Given the description of an element on the screen output the (x, y) to click on. 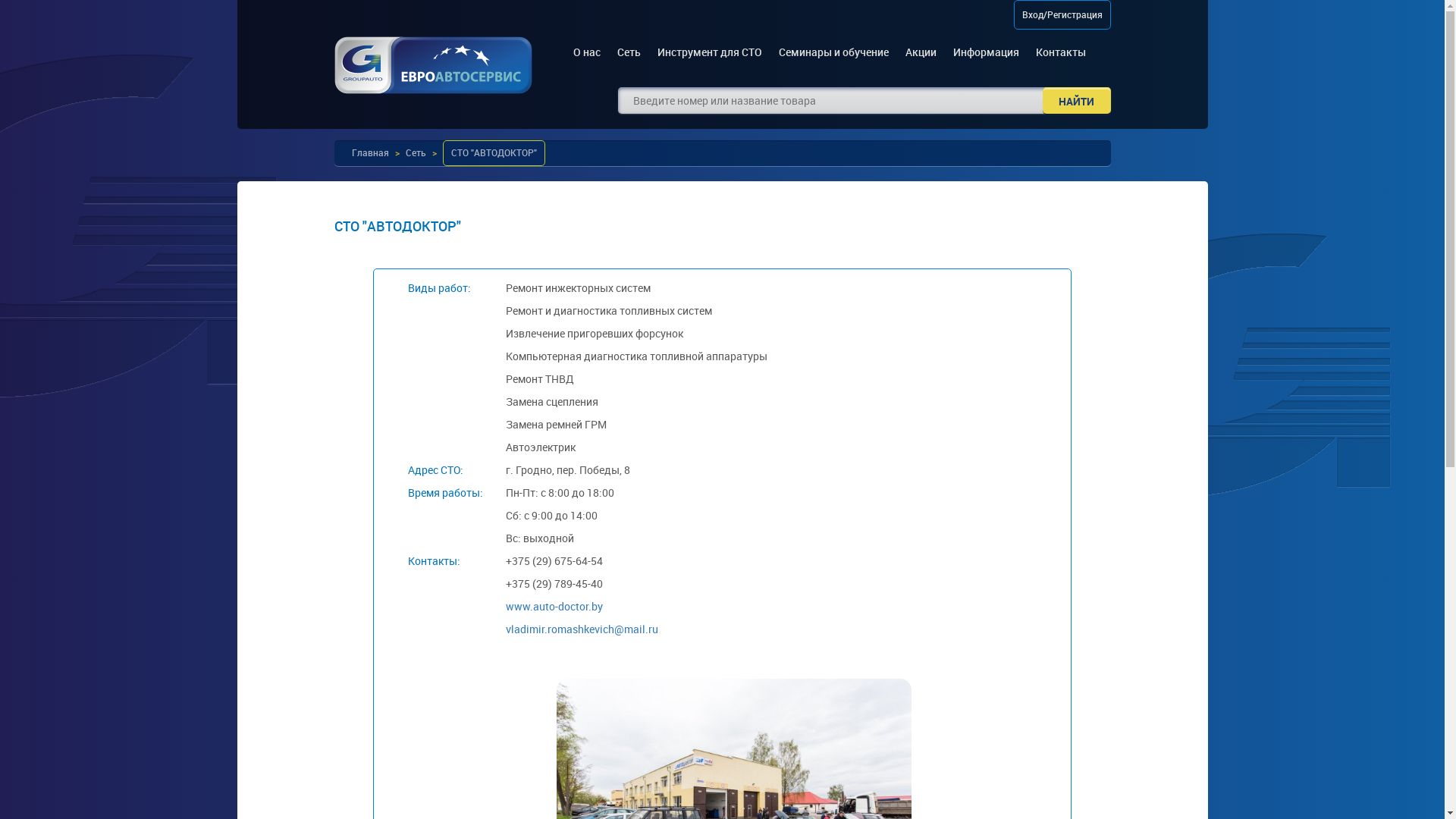
www.auto-doctor.by Element type: text (553, 606)
vladimir.romashkevich@mail.ru Element type: text (581, 628)
